Given the description of an element on the screen output the (x, y) to click on. 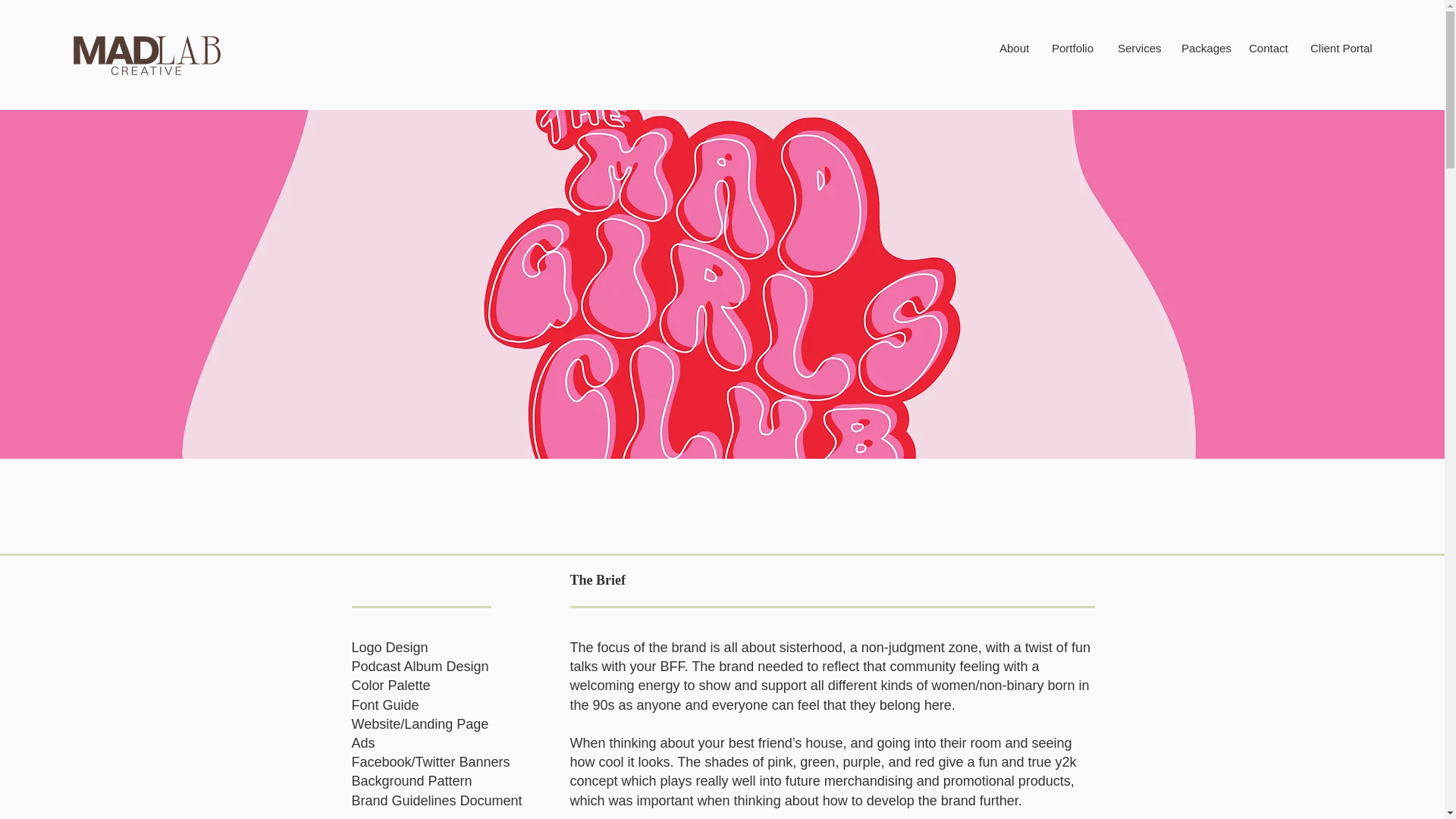
Contact (1267, 47)
About (1014, 47)
Packages (1203, 47)
Client Portal (1341, 47)
Services (1138, 47)
Portfolio (1073, 47)
